Given the description of an element on the screen output the (x, y) to click on. 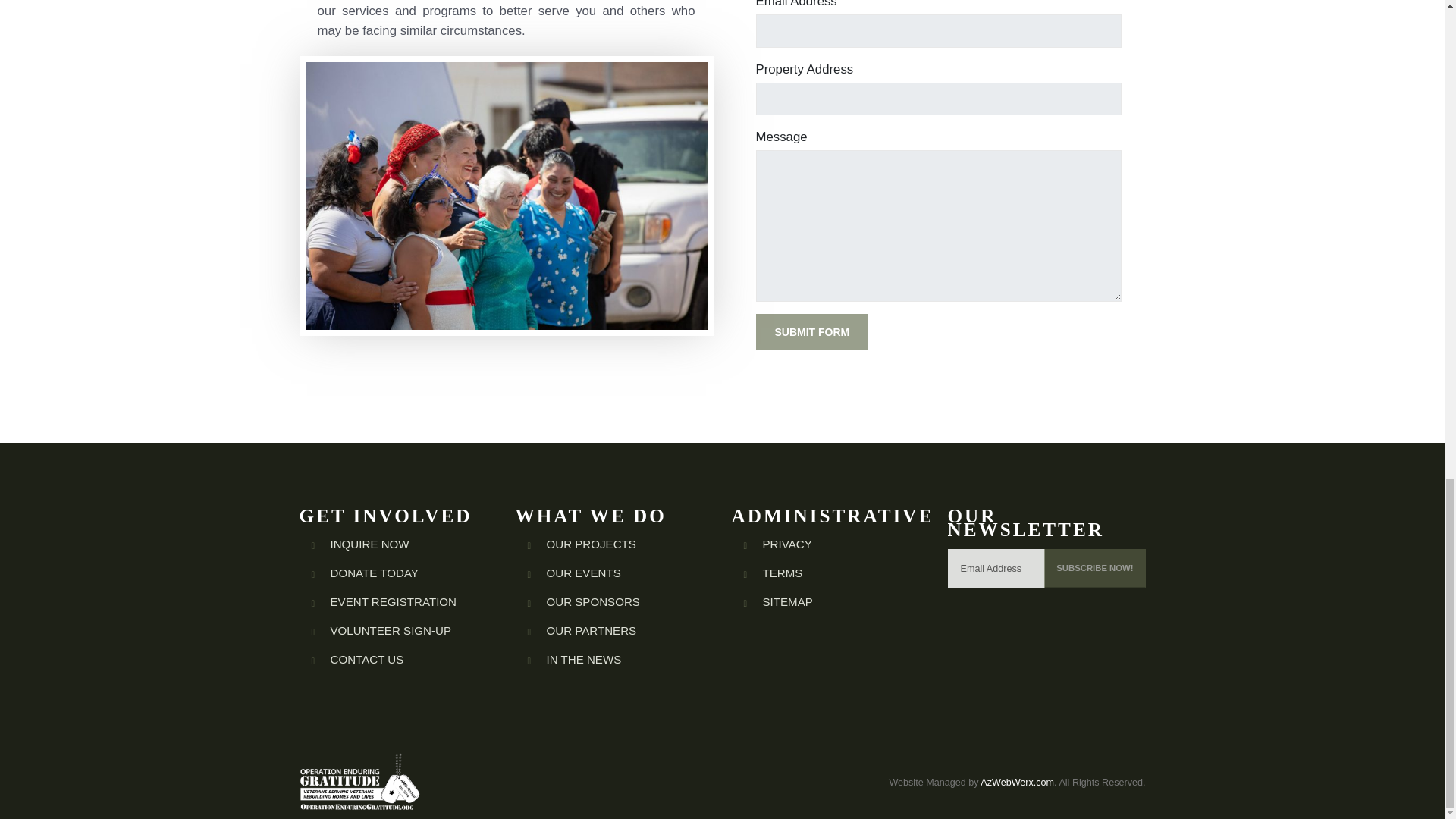
Submit Form (811, 332)
SUBSCRIBE NOW! (1093, 568)
OUR PROJECTS (590, 543)
TERMS (782, 572)
EVENT REGISTRATION (393, 601)
PRIVACY (787, 543)
SITEMAP (787, 601)
OUR PARTNERS (591, 630)
Website Managed by AzWebWerx.com. All Rights Reserved. (1016, 782)
OUR SPONSORS (592, 601)
